Given the description of an element on the screen output the (x, y) to click on. 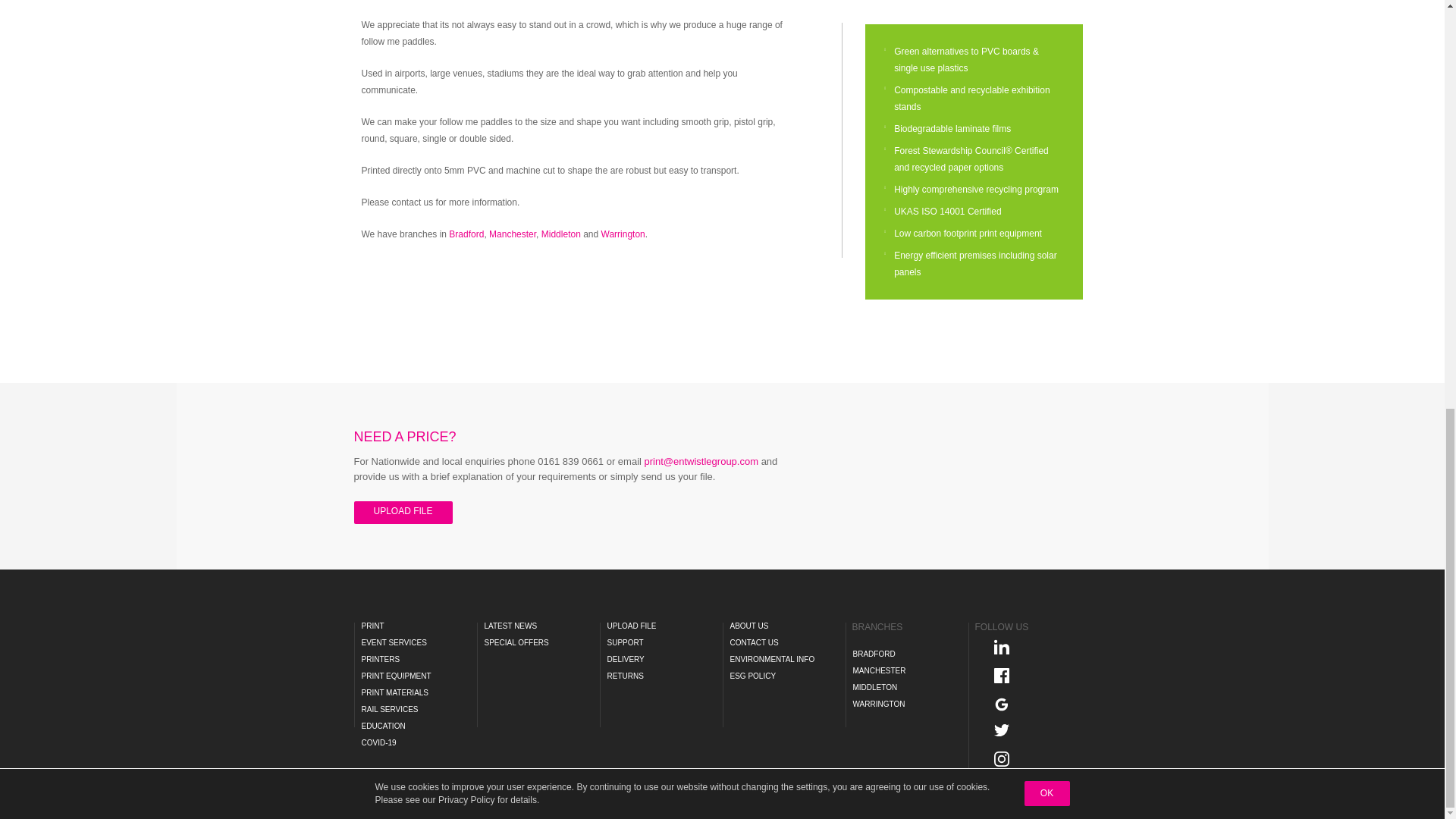
Instagram (1004, 757)
Twitter (1004, 729)
Facebook (1004, 674)
Google (1004, 703)
